Given the description of an element on the screen output the (x, y) to click on. 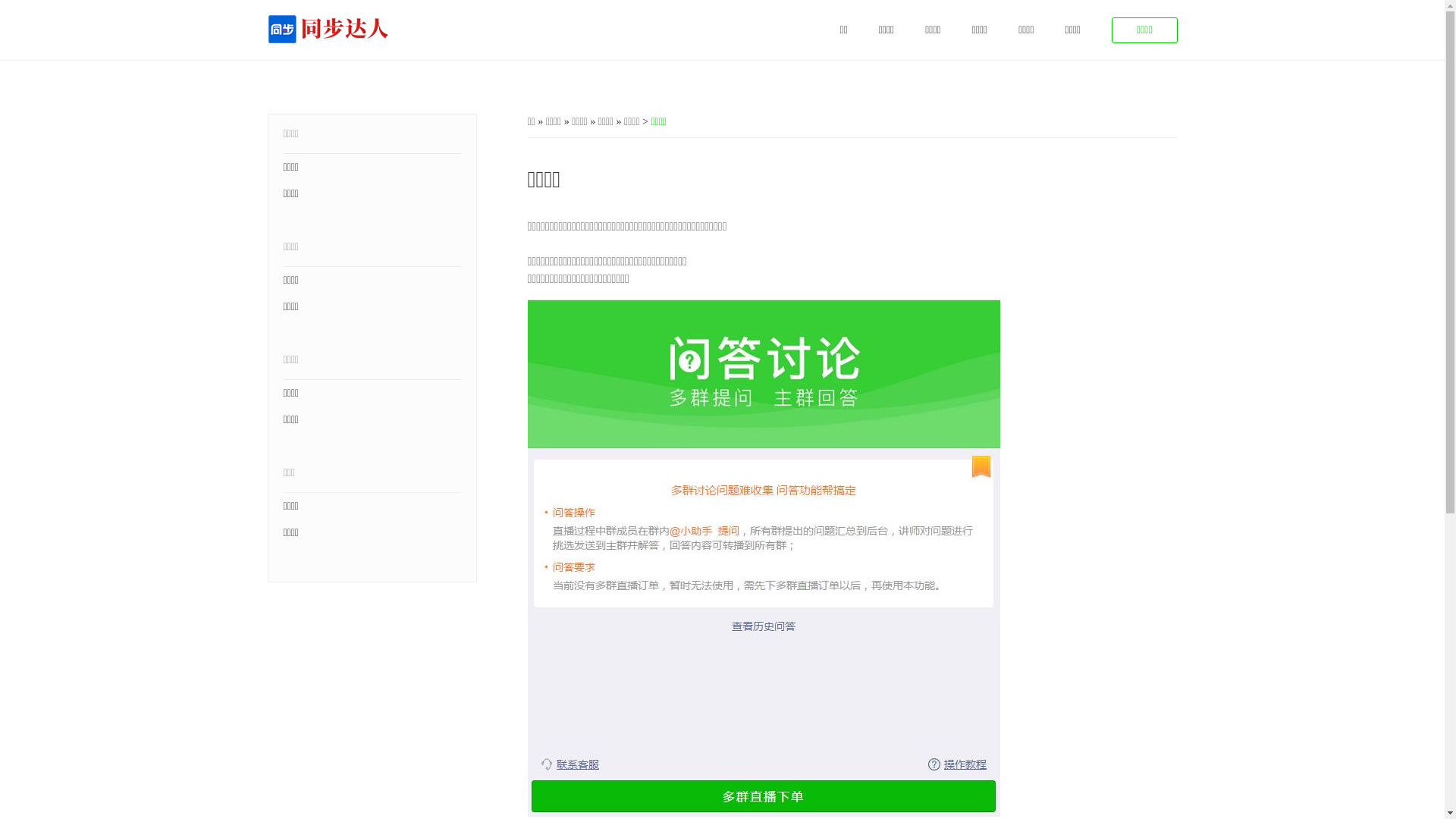
1505055562889545.jpg Element type: hover (763, 557)
